Given the description of an element on the screen output the (x, y) to click on. 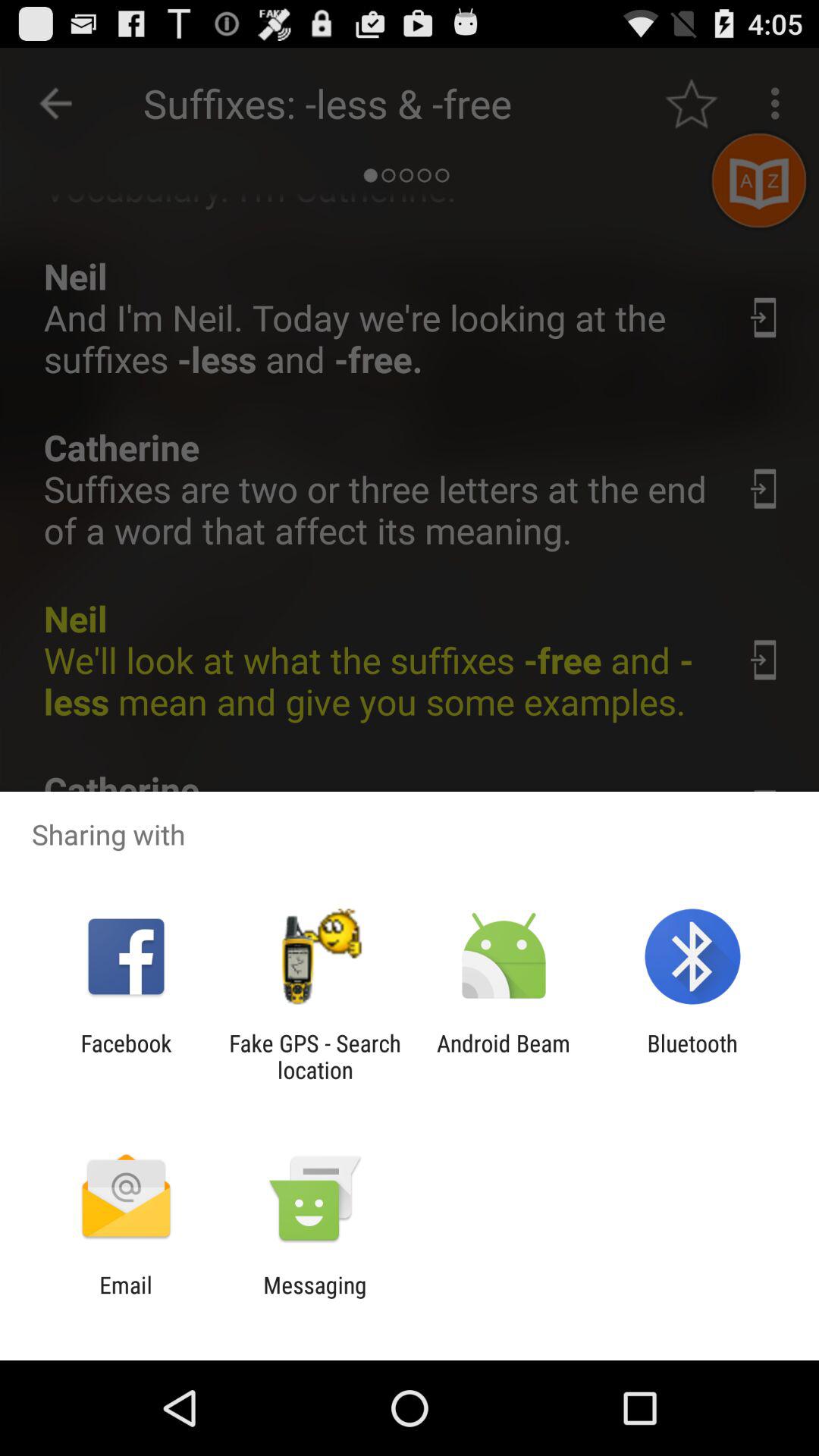
press the app next to the bluetooth icon (503, 1056)
